Given the description of an element on the screen output the (x, y) to click on. 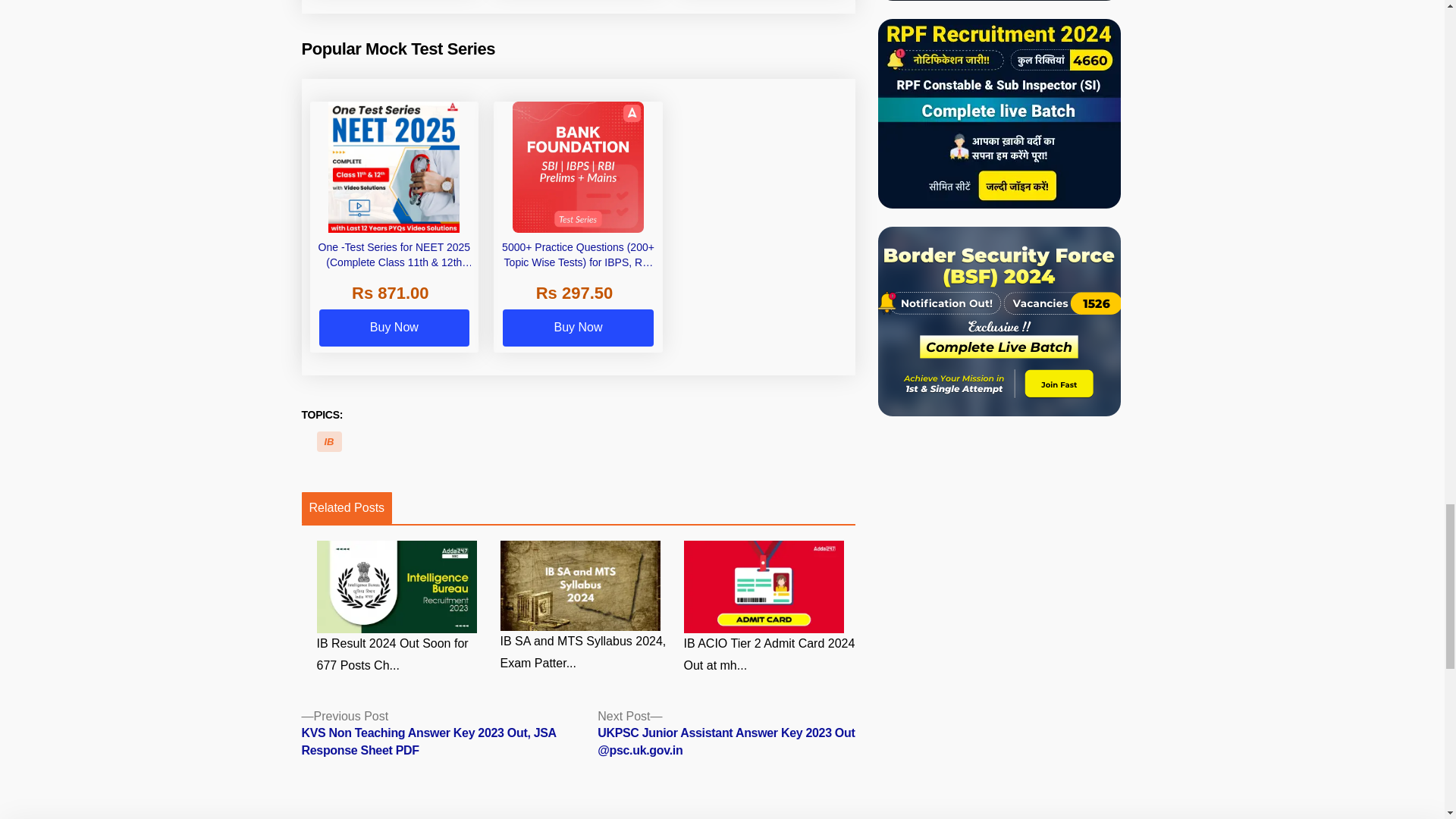
IB Result 2024 Out Soon for 677 Posts Check Details (402, 608)
IB SA and MTS Syllabus 2024, Exam Pattern and Download PDF (585, 607)
